Given the description of an element on the screen output the (x, y) to click on. 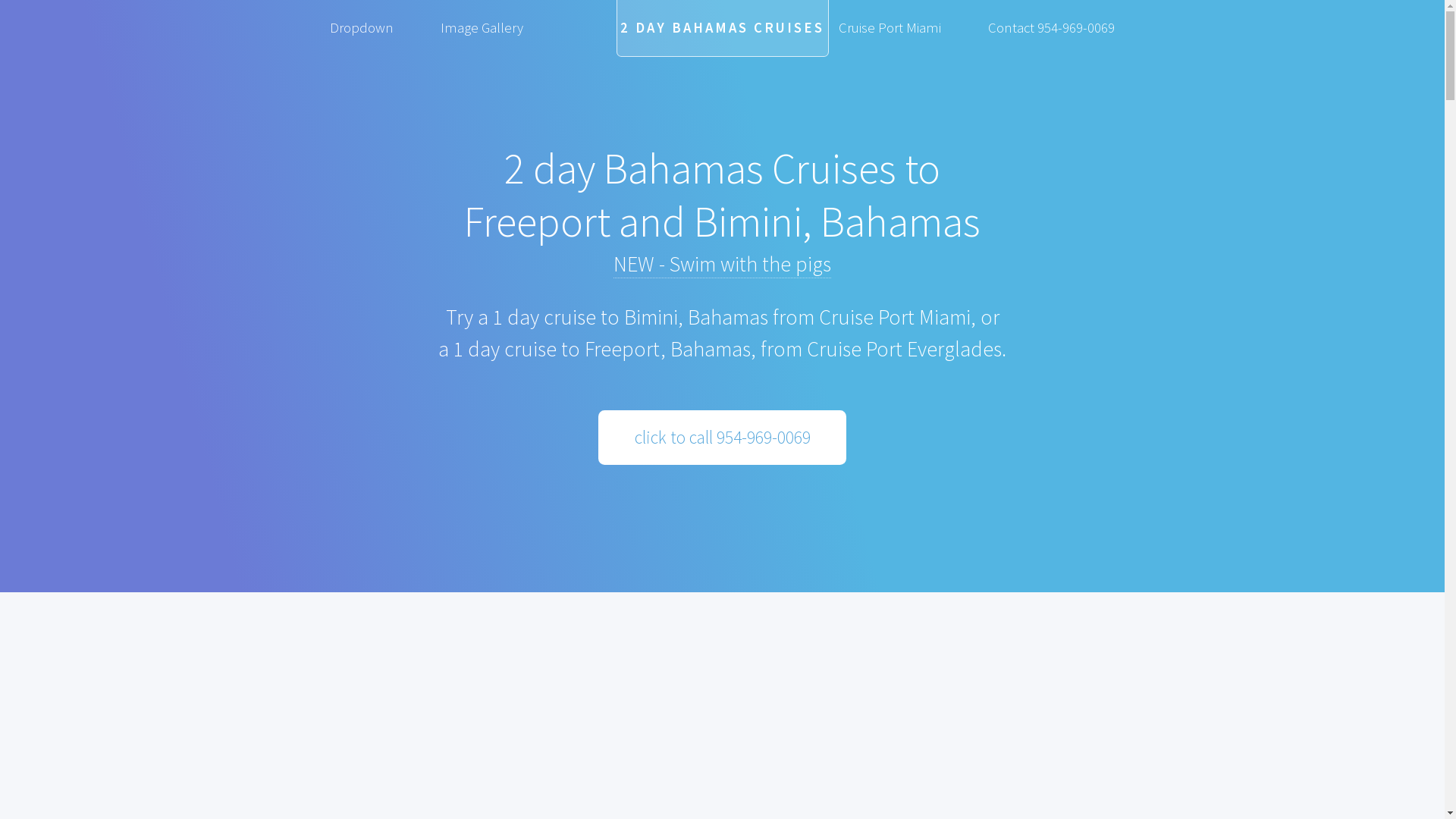
Image Gallery Element type: text (481, 26)
Dropdown Element type: text (360, 26)
Advertisement Element type: hover (721, 698)
Cruise Port Miami Element type: text (890, 26)
click to call 954-969-0069 Element type: text (722, 437)
NEW - Swim with the pigs Element type: text (722, 264)
2 DAY BAHAMAS CRUISES Element type: text (721, 28)
Contact 954-969-0069 Element type: text (1051, 26)
